Given the description of an element on the screen output the (x, y) to click on. 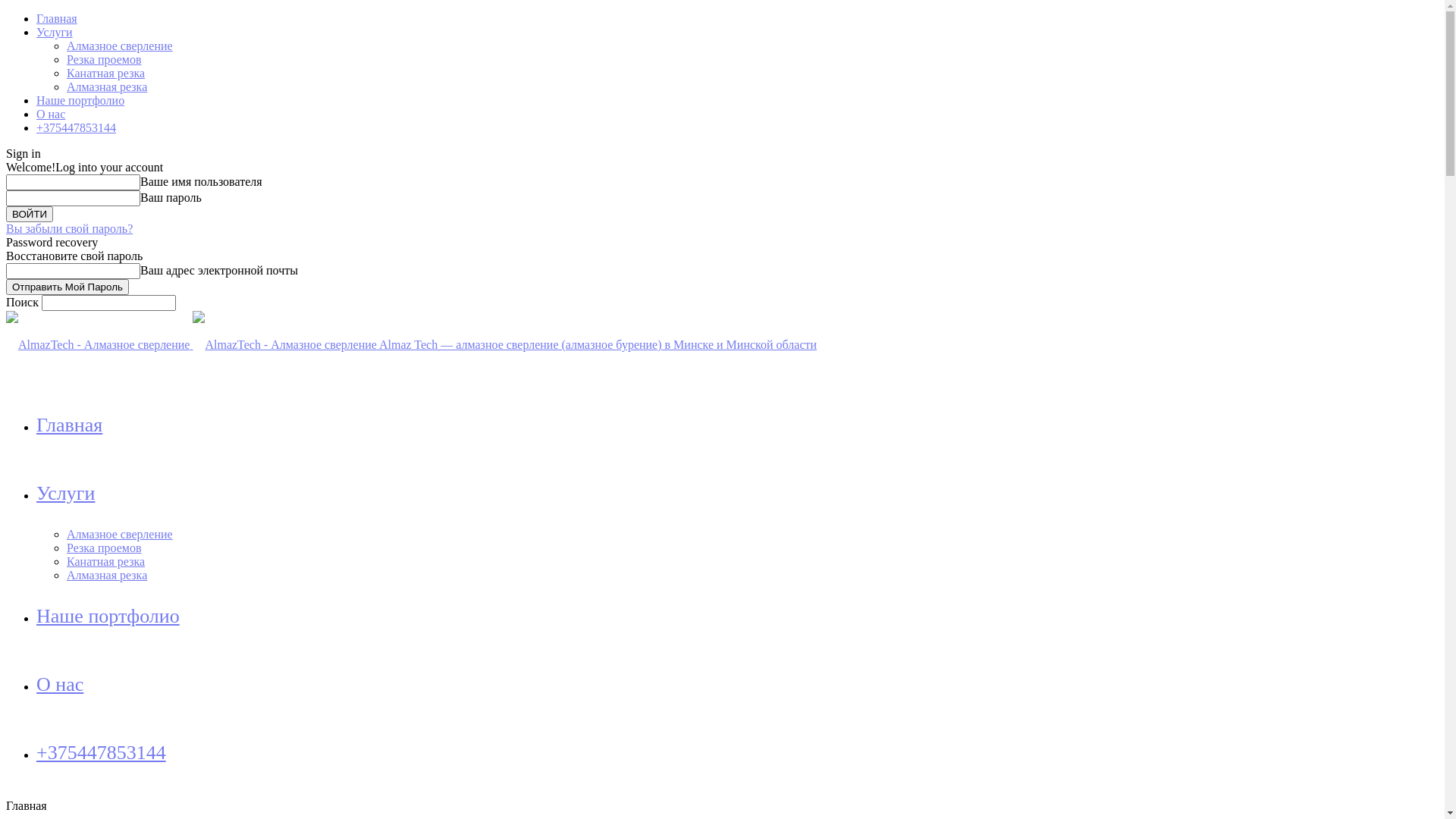
+375447853144 Element type: text (101, 752)
+375447853144 Element type: text (76, 127)
